Given the description of an element on the screen output the (x, y) to click on. 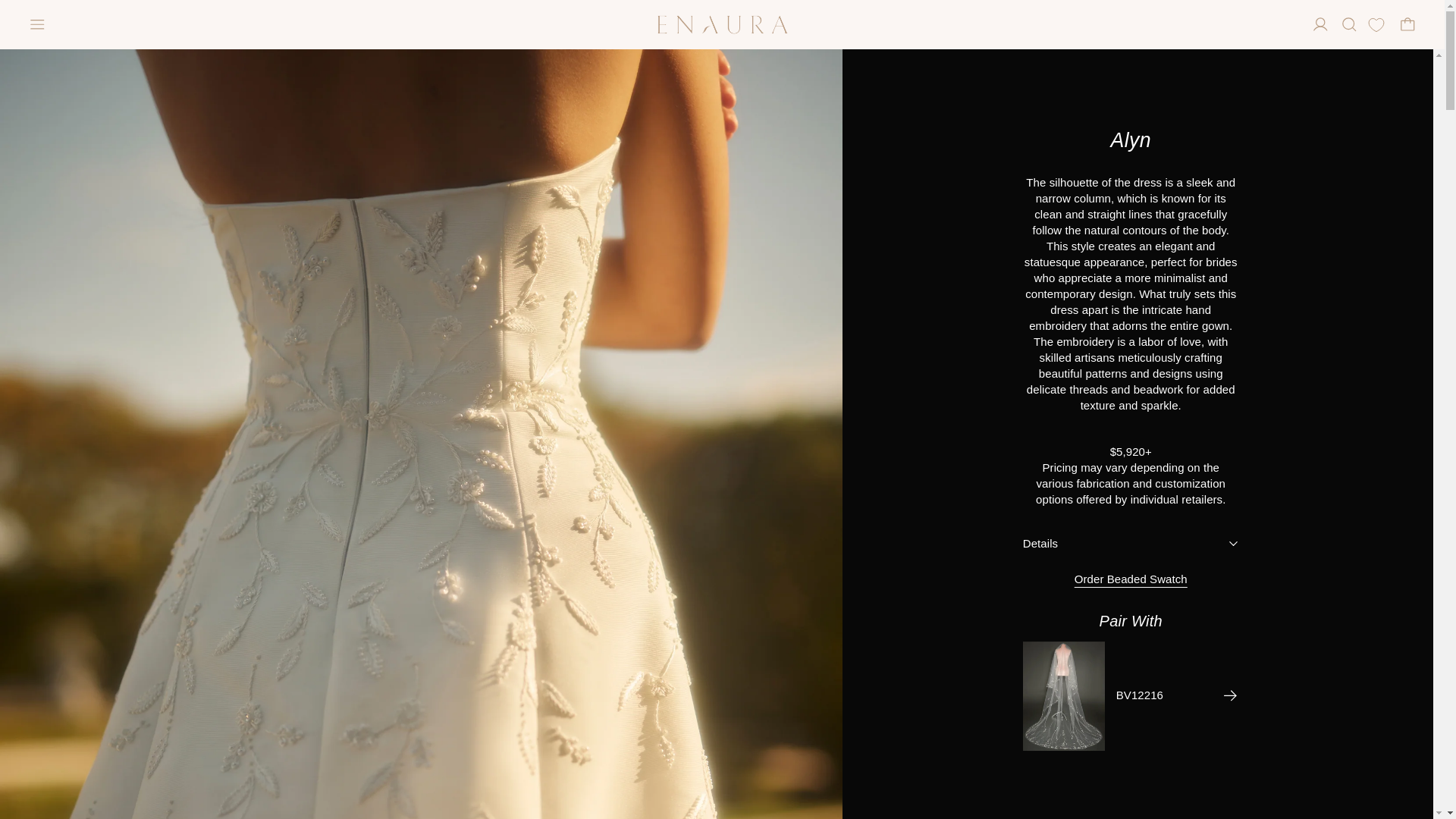
BV12216 (1177, 696)
BV12216 (1177, 696)
Swatch (1131, 579)
View Wishlist (1377, 23)
Menu (37, 24)
Order Beaded Swatch (1131, 579)
